Given the description of an element on the screen output the (x, y) to click on. 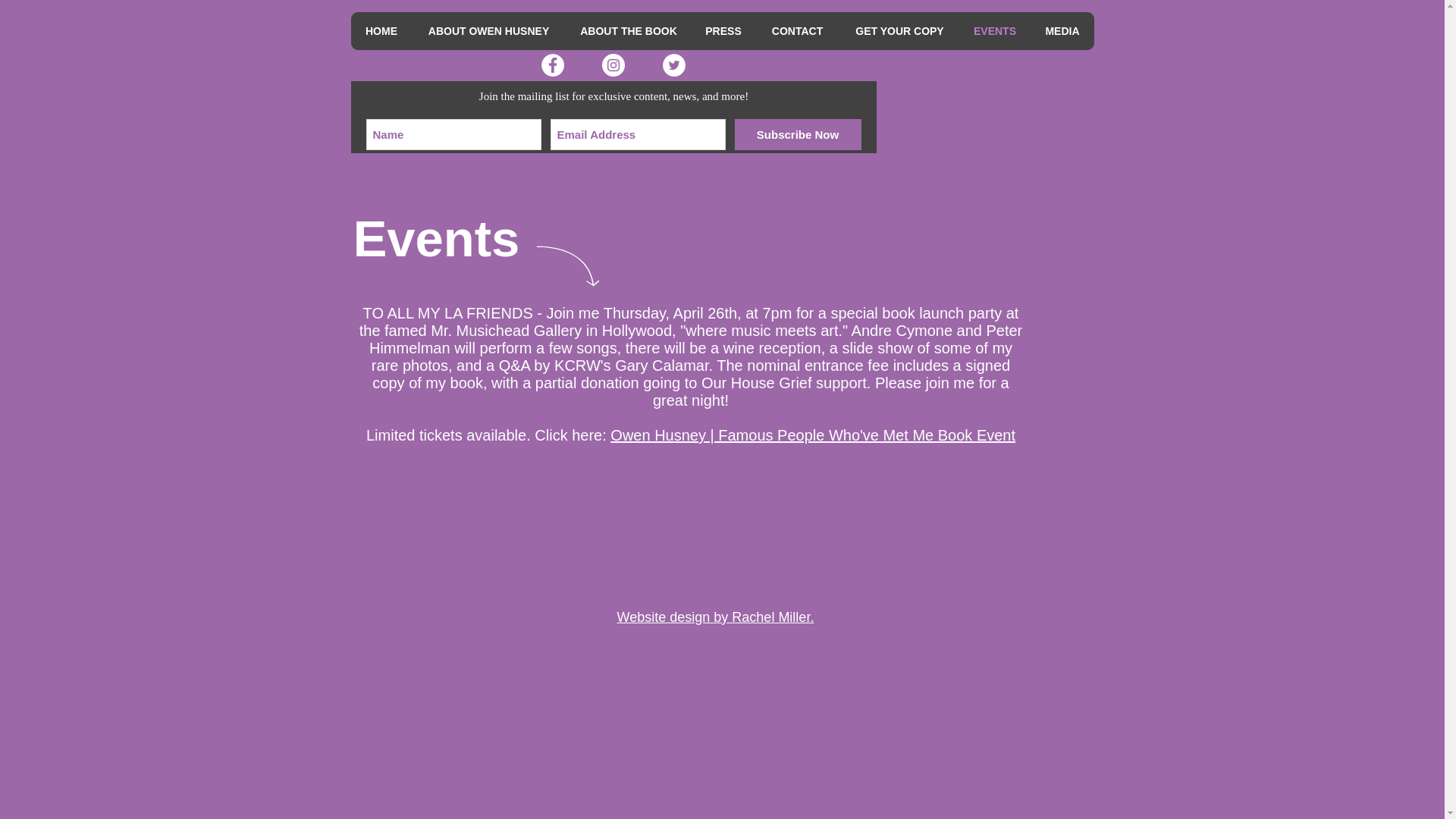
Website design by Rachel Miller. (715, 616)
ABOUT OWEN HUSNEY (488, 30)
HOME (381, 30)
Subscribe Now (796, 133)
CONTACT (797, 30)
PRESS (722, 30)
EVENTS (993, 30)
ABOUT THE BOOK (627, 30)
GET YOUR COPY (899, 30)
